Given the description of an element on the screen output the (x, y) to click on. 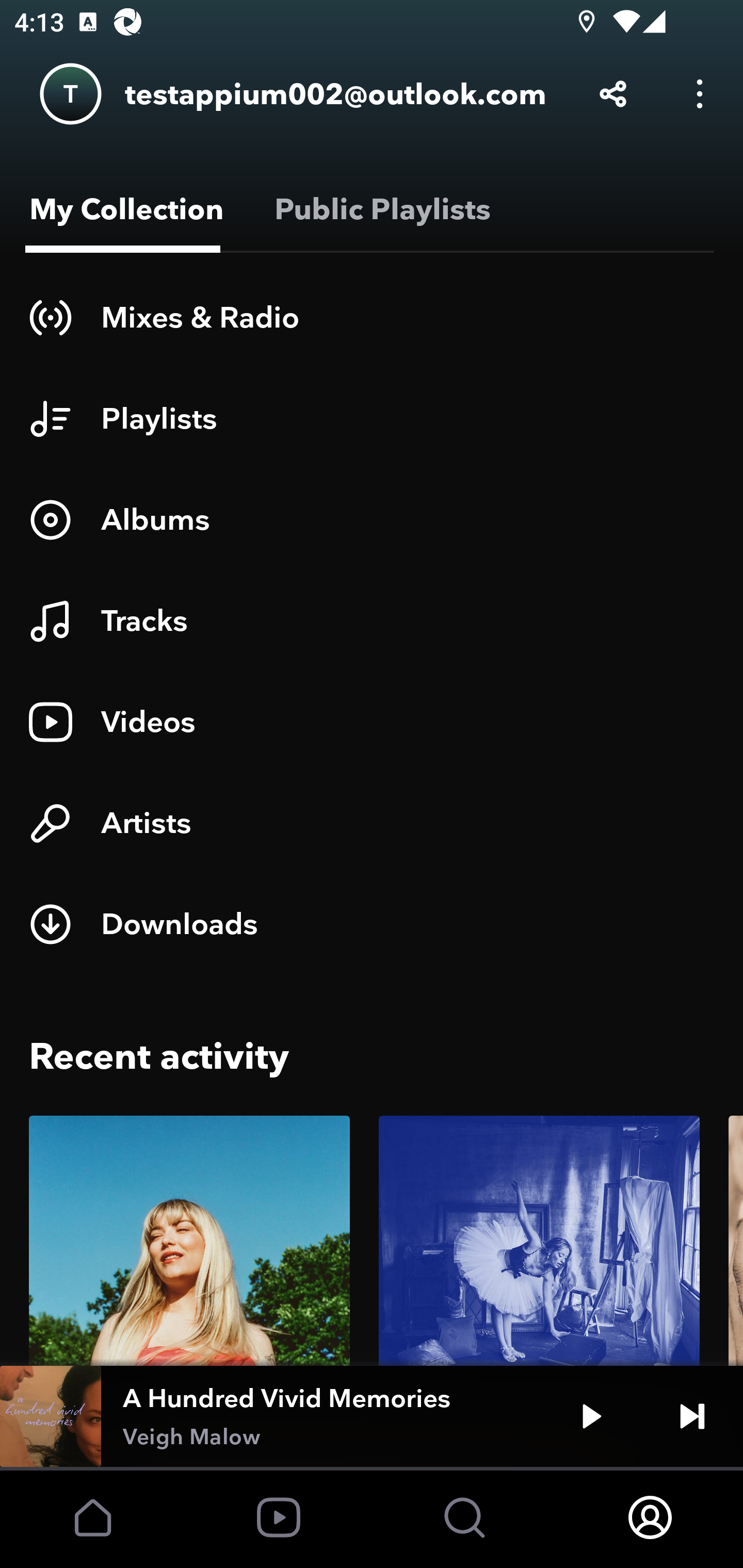
Share (612, 93)
Options (699, 93)
Public Playlists (378, 209)
Mixes & Radio (371, 317)
Playlists (371, 418)
Albums (371, 519)
Tracks (371, 620)
Videos (371, 722)
Artists (371, 823)
Downloads (371, 924)
A Hundred Vivid Memories Veigh Malow Play (371, 1416)
Play (590, 1416)
